Given the description of an element on the screen output the (x, y) to click on. 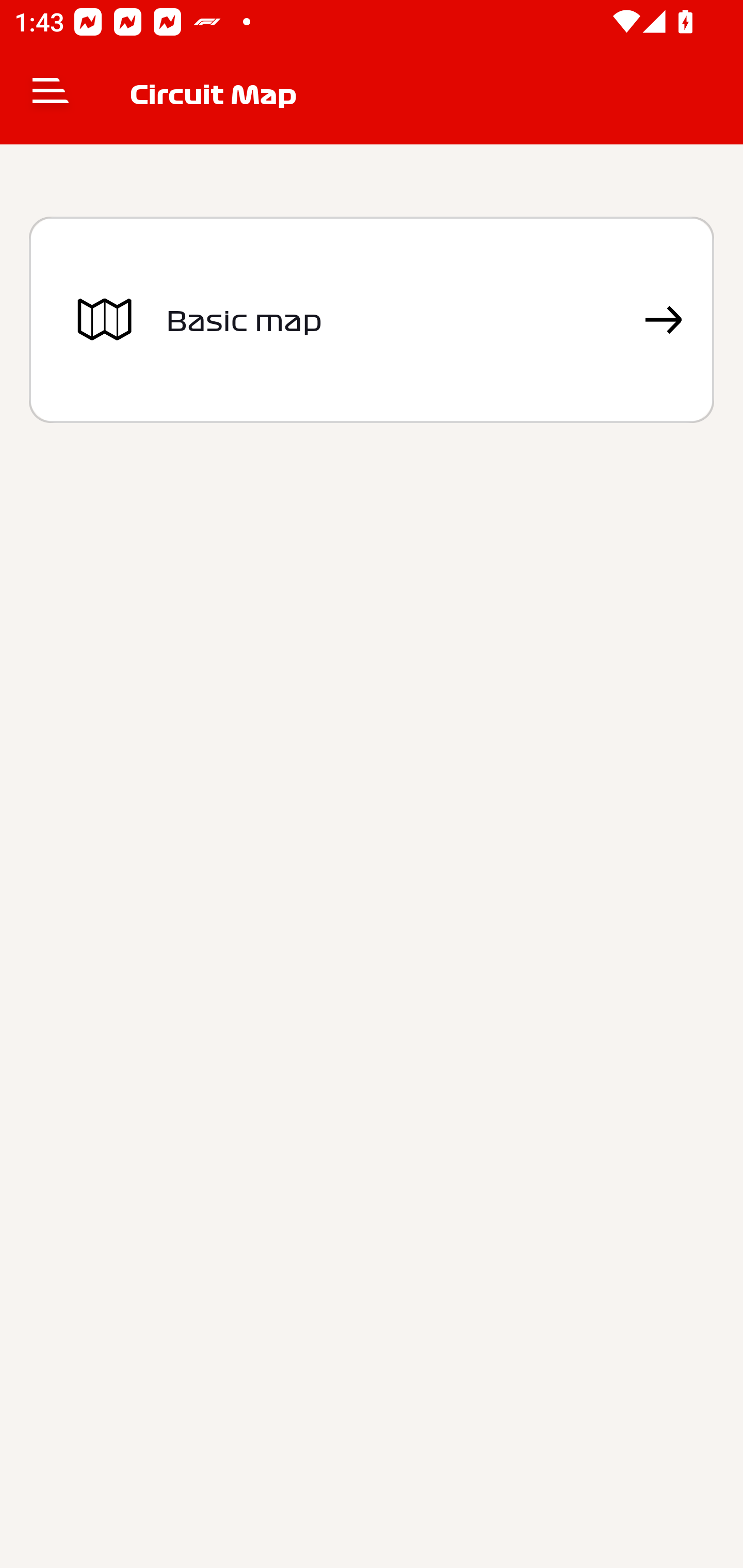
Navigate up (50, 93)
Basic map (371, 319)
